Given the description of an element on the screen output the (x, y) to click on. 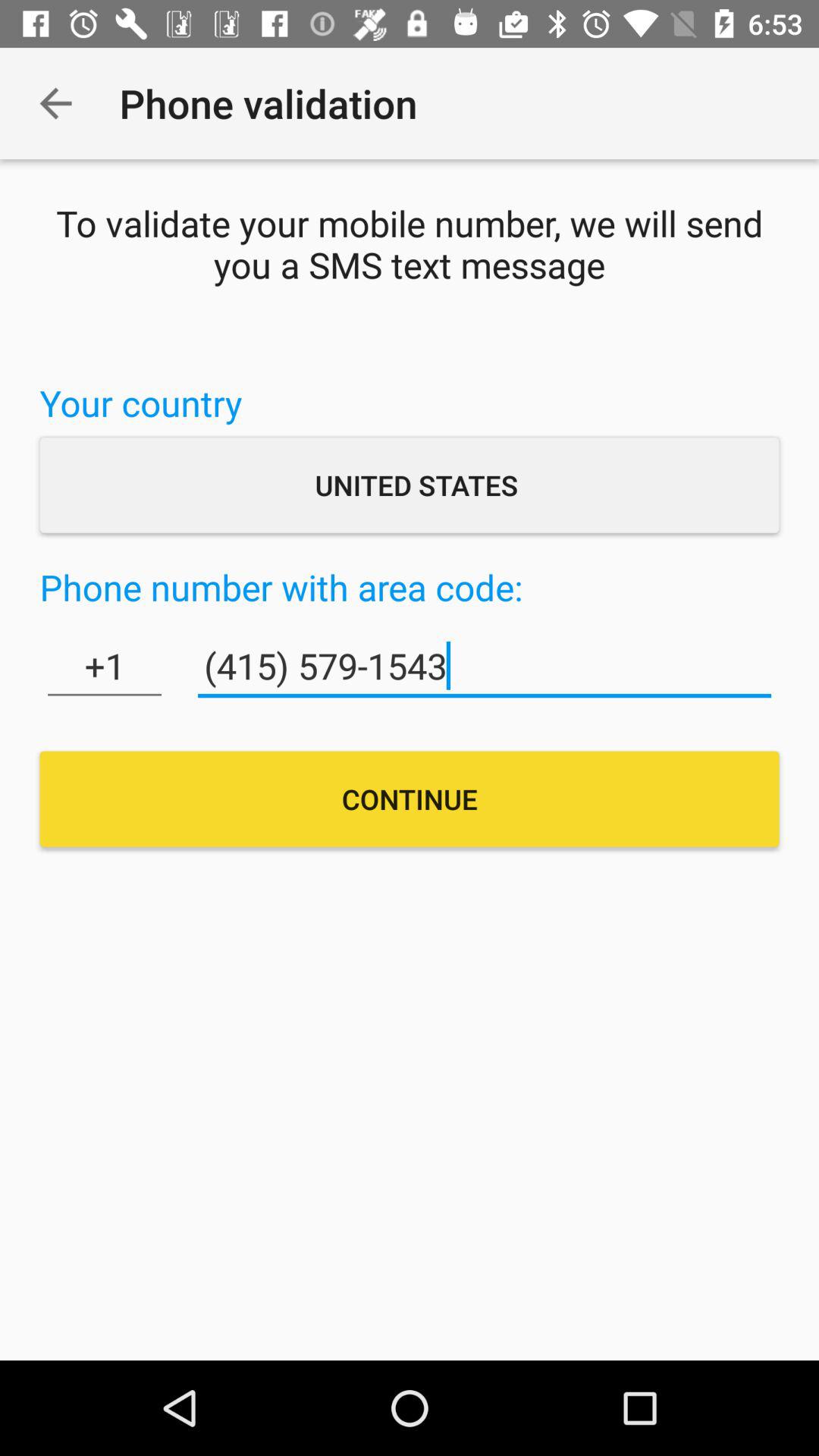
launch the item below the +1 (409, 798)
